Given the description of an element on the screen output the (x, y) to click on. 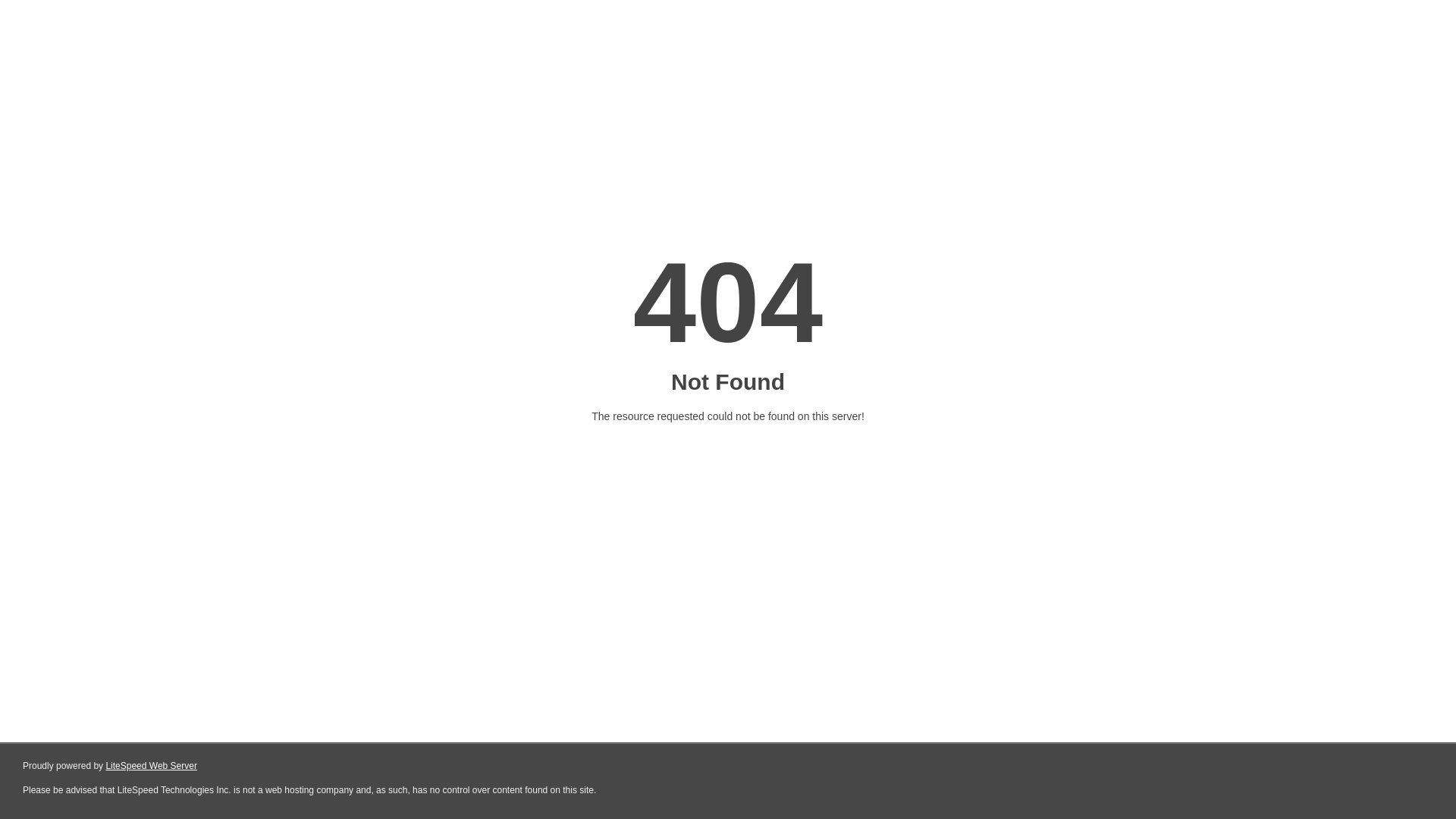
LiteSpeed Web Server Element type: text (151, 765)
